Given the description of an element on the screen output the (x, y) to click on. 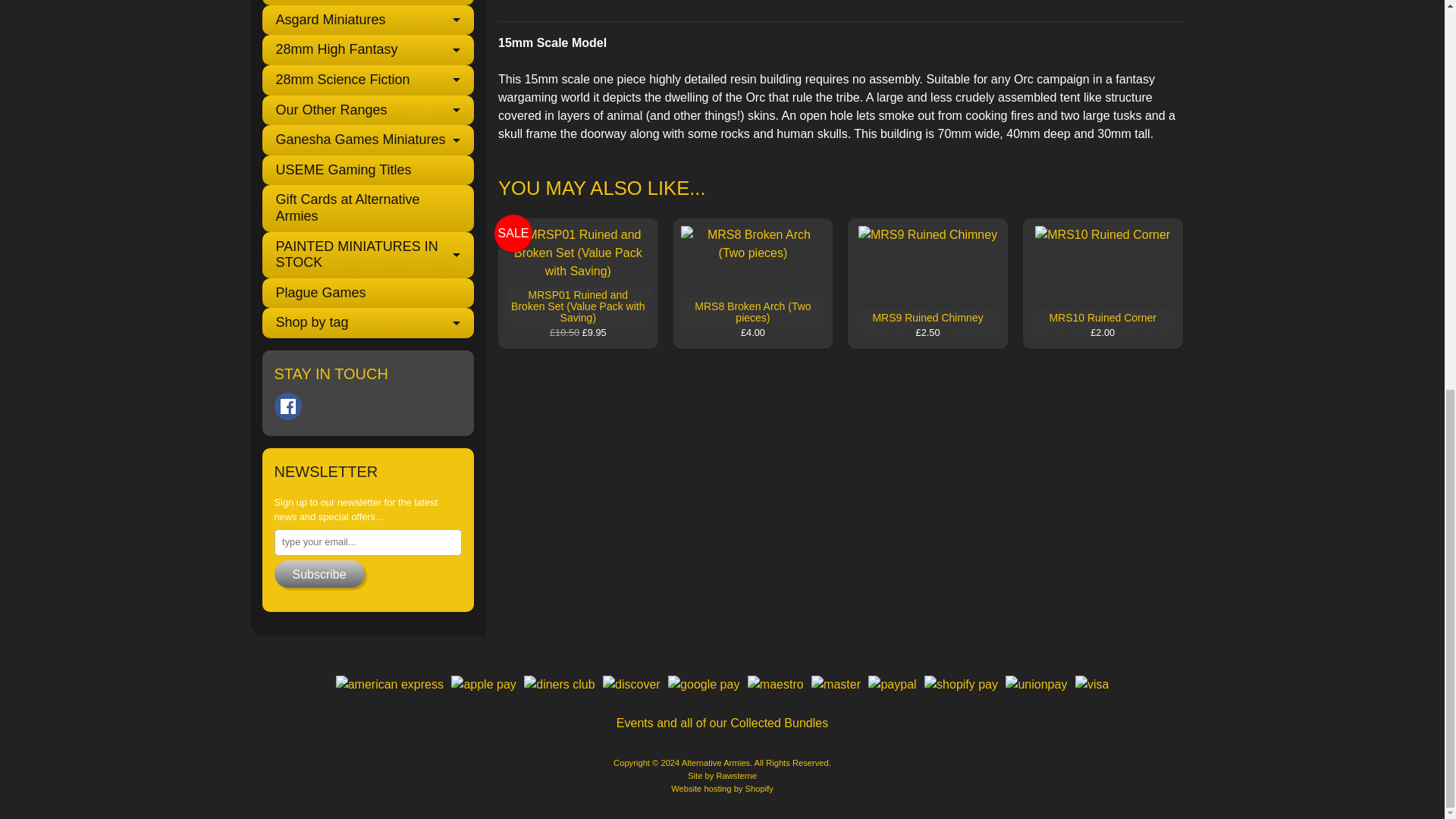
Facebook (288, 406)
MRS9 Ruined Chimney (927, 283)
MRS10 Ruined Corner (1102, 283)
